Given the description of an element on the screen output the (x, y) to click on. 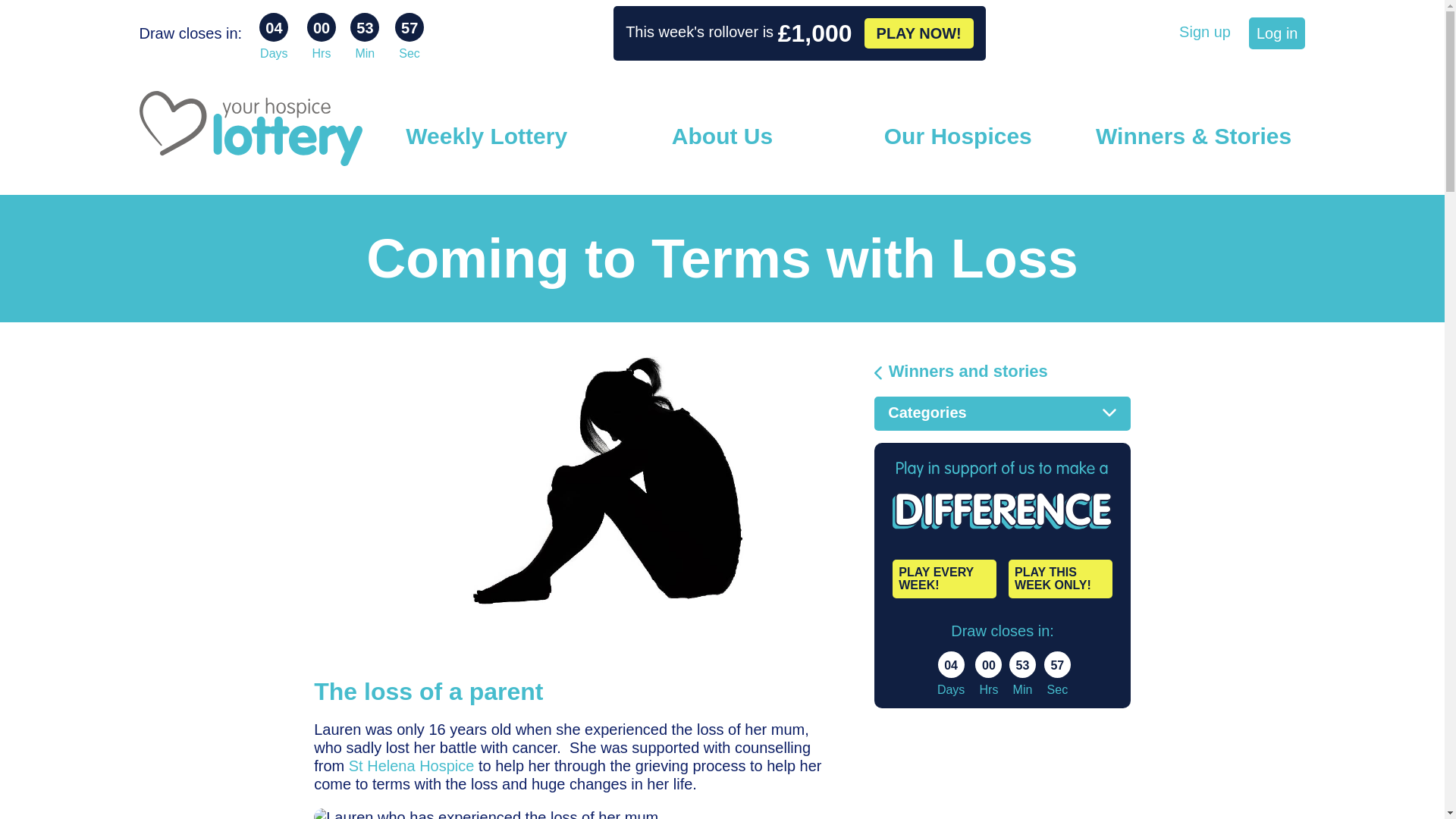
Sign up (1204, 31)
Categories (1003, 413)
About Us (722, 135)
Winners and stories (1003, 371)
Weekly Lottery (486, 135)
Our Hospices (957, 135)
PLAY NOW! (919, 33)
Log in (1277, 33)
difference (1002, 494)
